Given the description of an element on the screen output the (x, y) to click on. 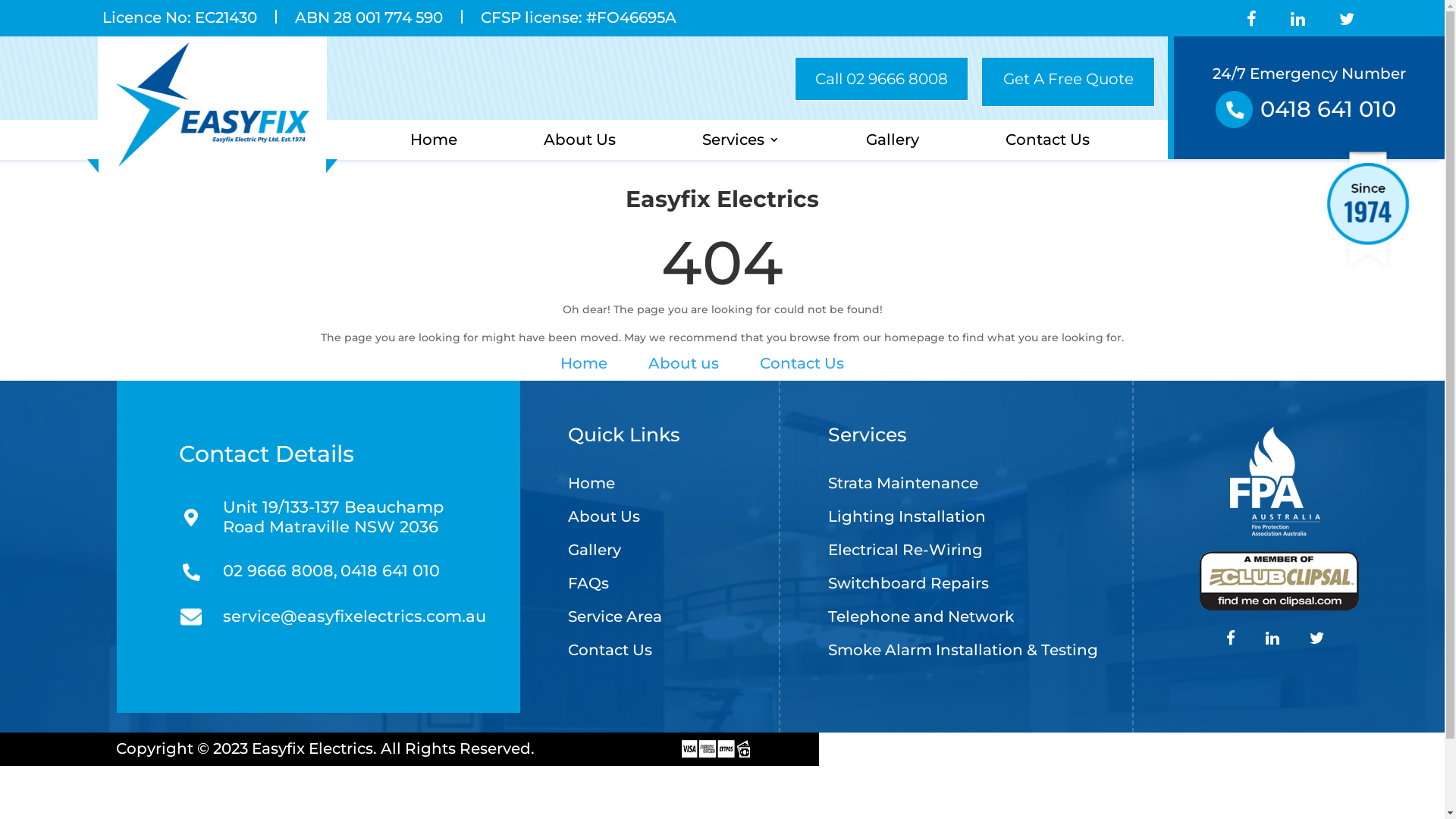
About us Element type: text (683, 363)
About Us Element type: text (603, 519)
0418 641 010 Element type: text (389, 570)
Gallery Element type: text (594, 552)
Gallery Element type: text (892, 142)
Contact Us Element type: text (609, 652)
Unit 19/133-137 Beauchamp Road Matraville NSW 2036 Element type: text (333, 516)
Telephone and Network Element type: text (920, 619)
02 9666 8008, Element type: text (279, 570)
Home Element type: text (591, 485)
service@easyfixelectrics.com.au Element type: text (333, 616)
Electrical Re-Wiring Element type: text (905, 552)
Home Element type: text (583, 363)
Home Element type: text (433, 142)
Strata Maintenance Element type: text (903, 485)
Lighting Installation Element type: text (906, 519)
Switchboard Repairs Element type: text (908, 585)
Get A Free Quote Element type: text (1067, 81)
Service Area Element type: text (614, 619)
Services Element type: text (740, 142)
Contact Us Element type: text (801, 363)
Contact Us Element type: text (1047, 142)
0418 641 010 Element type: text (1328, 109)
FAQs Element type: text (587, 585)
Smoke Alarm Installation & Testing Element type: text (963, 652)
Call 02 9666 8008 Element type: text (881, 78)
About Us Element type: text (579, 142)
